Given the description of an element on the screen output the (x, y) to click on. 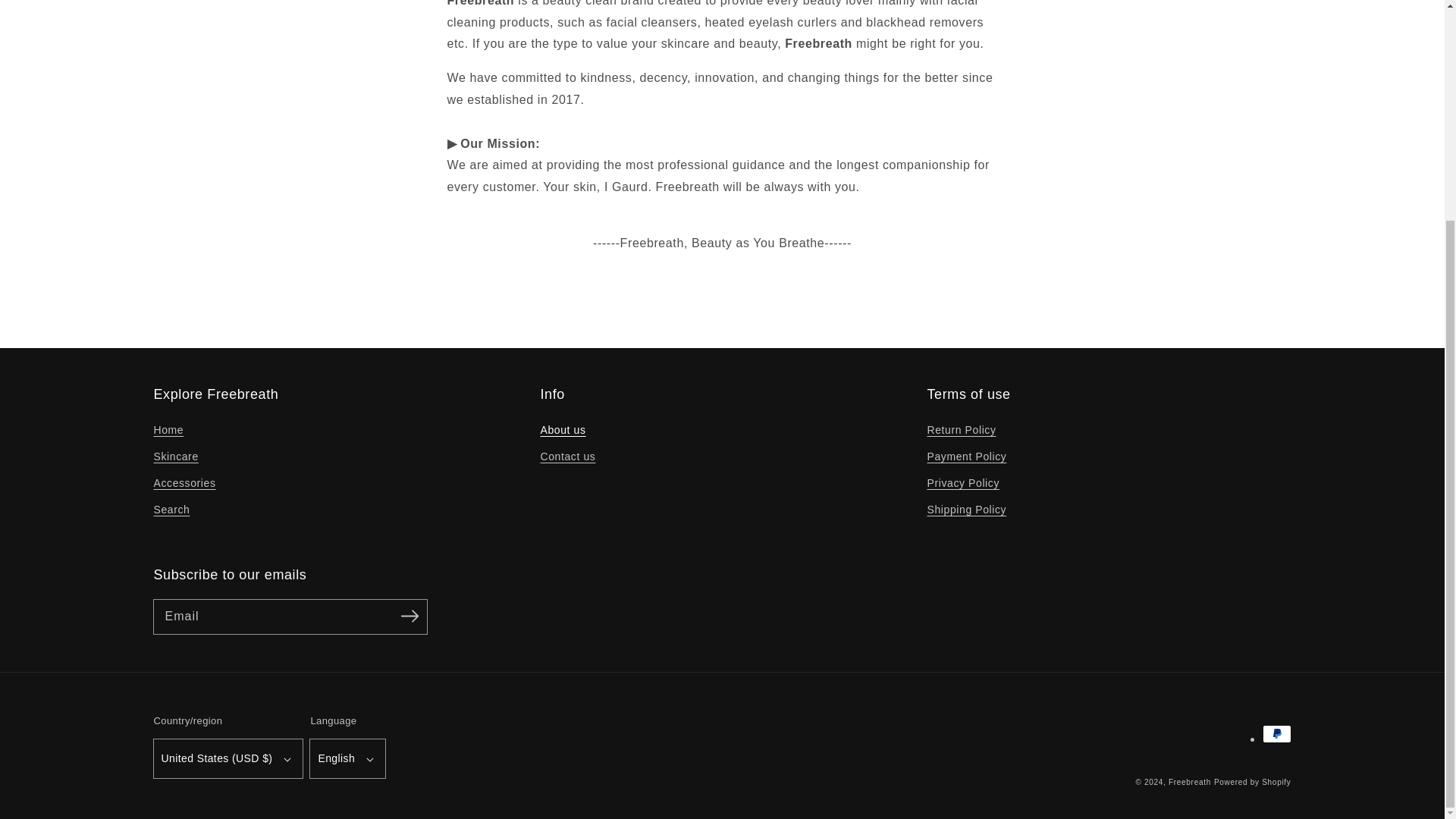
Home (167, 431)
Skincare (175, 456)
Contact us (567, 456)
PayPal (1276, 733)
Accessories (183, 483)
Search (170, 509)
About us (562, 431)
